Given the description of an element on the screen output the (x, y) to click on. 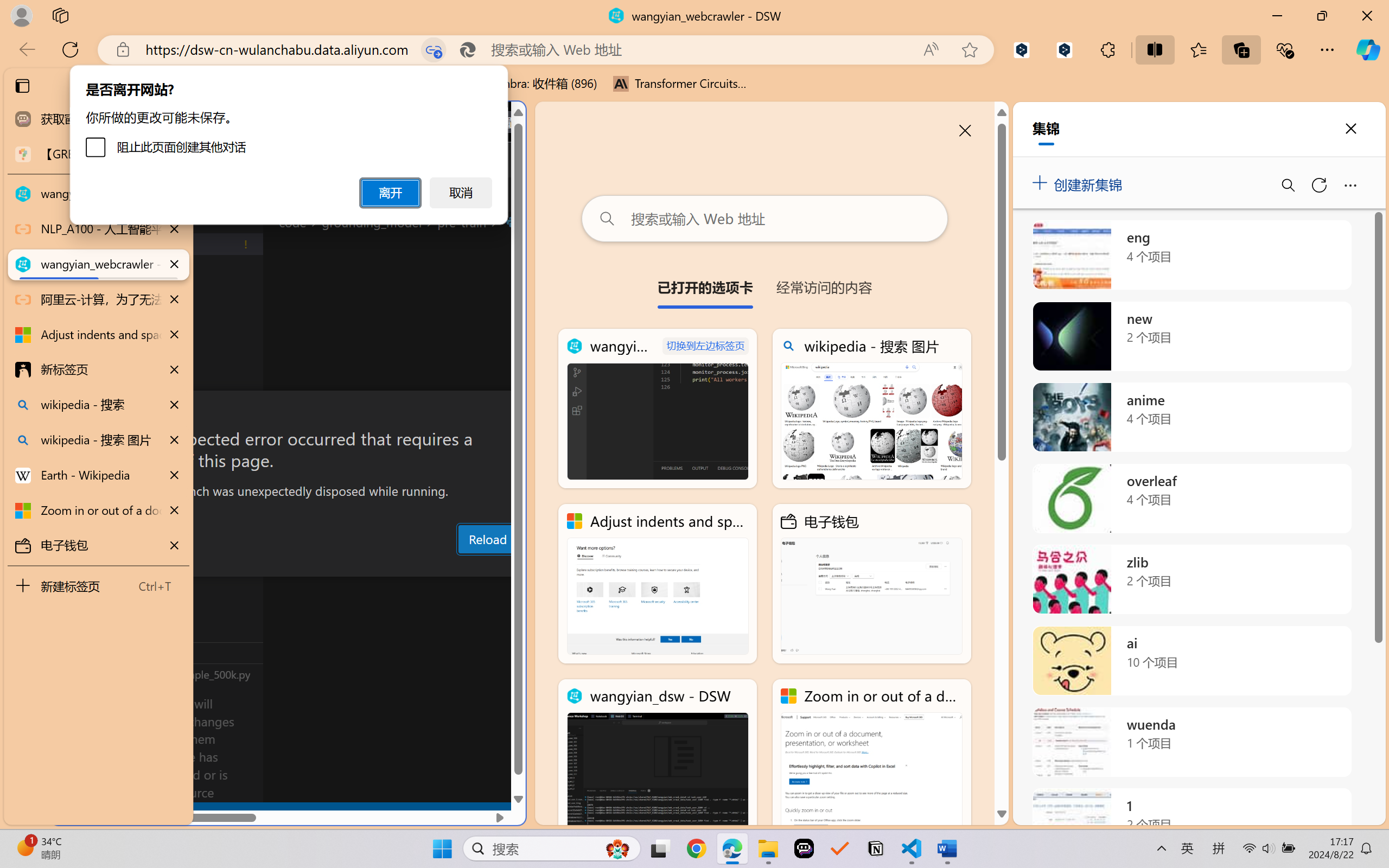
remote (66, 812)
Class: actions-container (287, 410)
Adjust indents and spacing - Microsoft Support (97, 334)
Manage (73, 778)
